Given the description of an element on the screen output the (x, y) to click on. 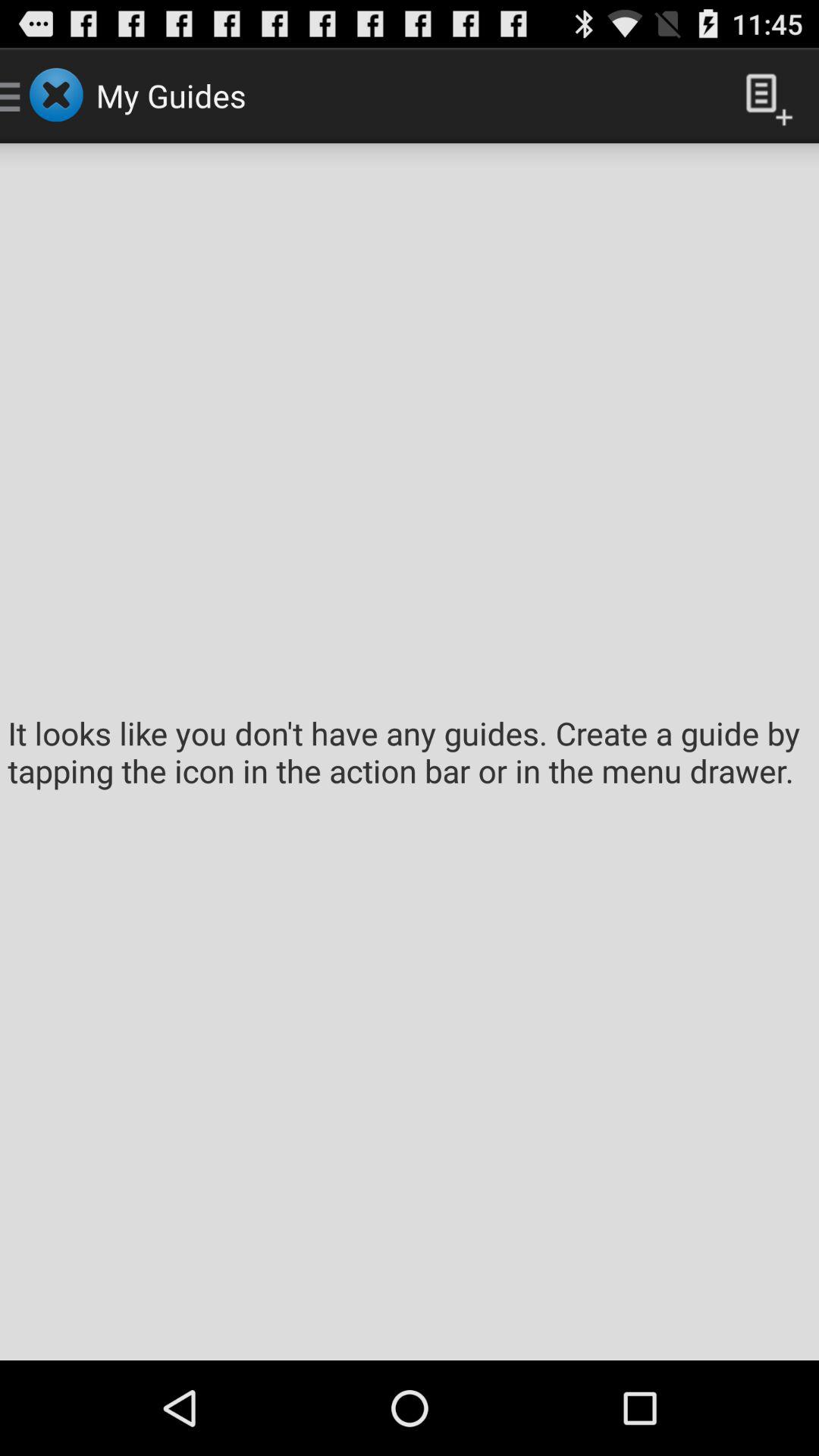
scroll to the it looks like app (409, 751)
